Given the description of an element on the screen output the (x, y) to click on. 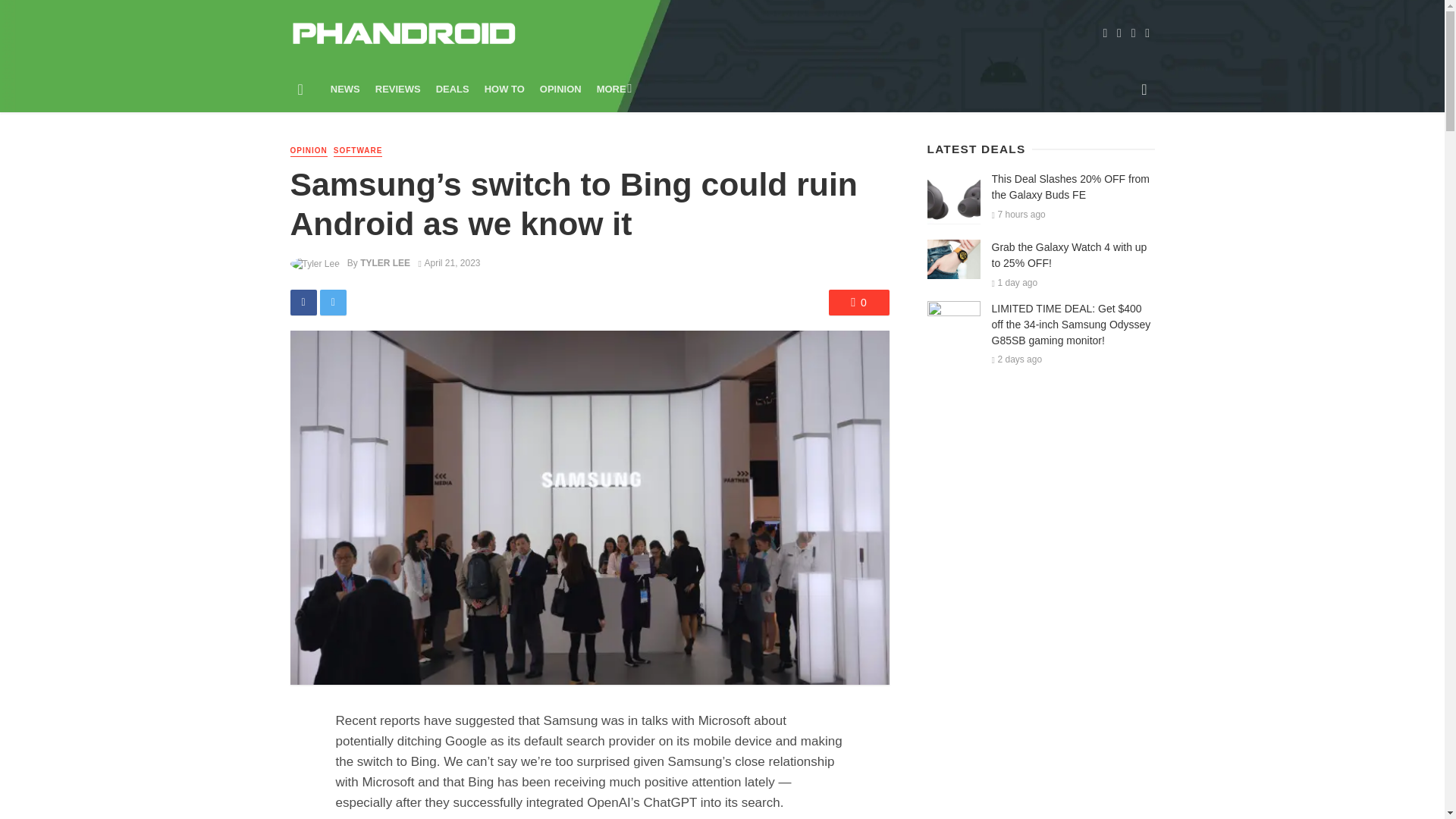
Posts by Tyler Lee (384, 262)
NEWS (345, 89)
Share on Facebook (302, 302)
OPINION (560, 89)
0 Comments (858, 302)
TYLER LEE (384, 262)
MORE (612, 89)
SOFTWARE (357, 151)
DEALS (452, 89)
REVIEWS (398, 89)
April 21, 2023 at 9:13 am (449, 262)
Share on Twitter (333, 302)
HOW TO (504, 89)
0 (858, 302)
OPINION (307, 151)
